Given the description of an element on the screen output the (x, y) to click on. 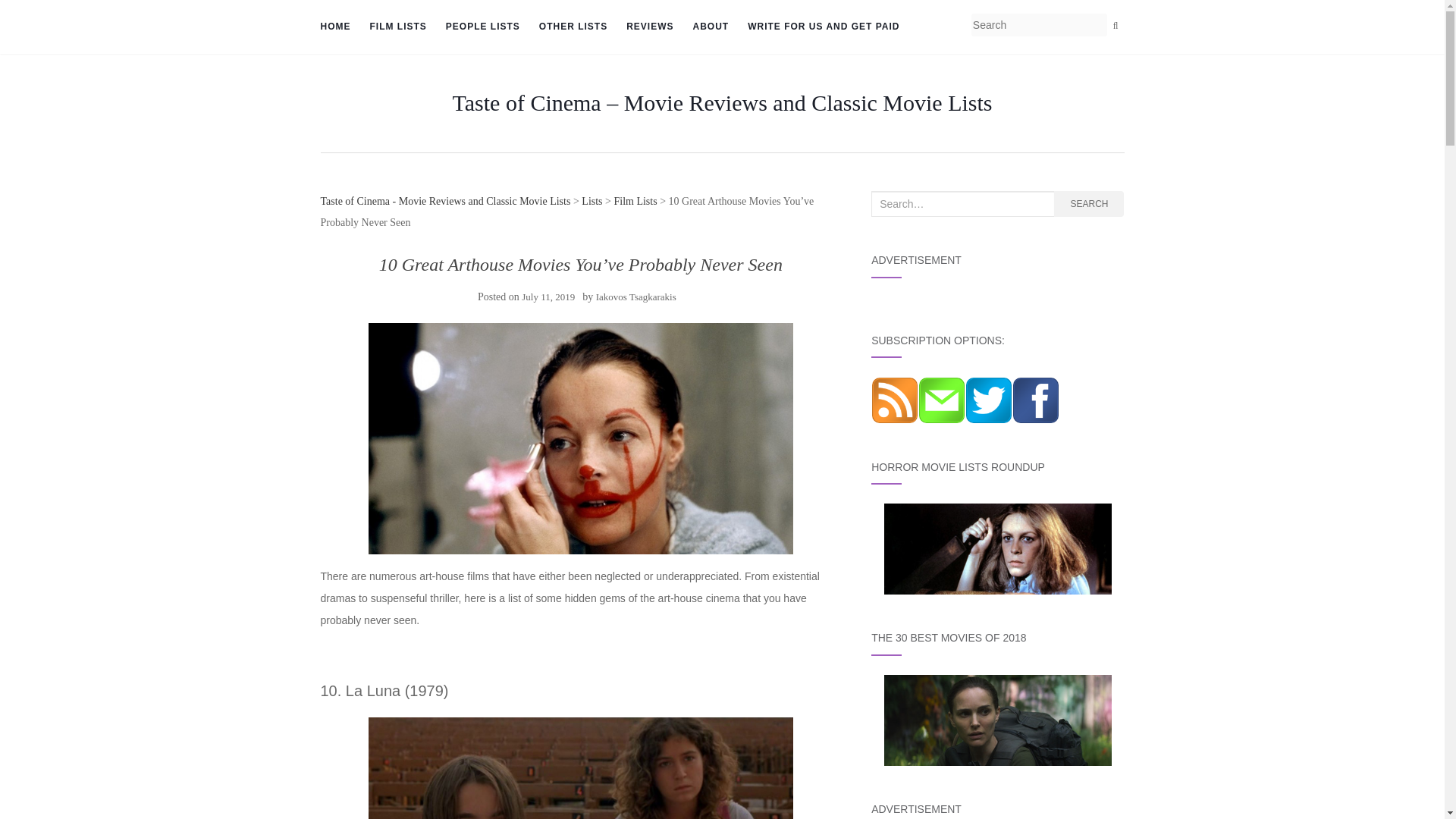
OTHER LISTS (572, 27)
Subscribe via RSS (894, 398)
PEOPLE LISTS (482, 27)
Write For Us and Get Paid (823, 27)
Film Lists (397, 27)
SEARCH (1089, 203)
Film Lists (634, 201)
July 11, 2019 (548, 296)
Go to the Film Lists category archives. (634, 201)
Taste of Cinema - Movie Reviews and Classic Movie Lists (445, 201)
